Given the description of an element on the screen output the (x, y) to click on. 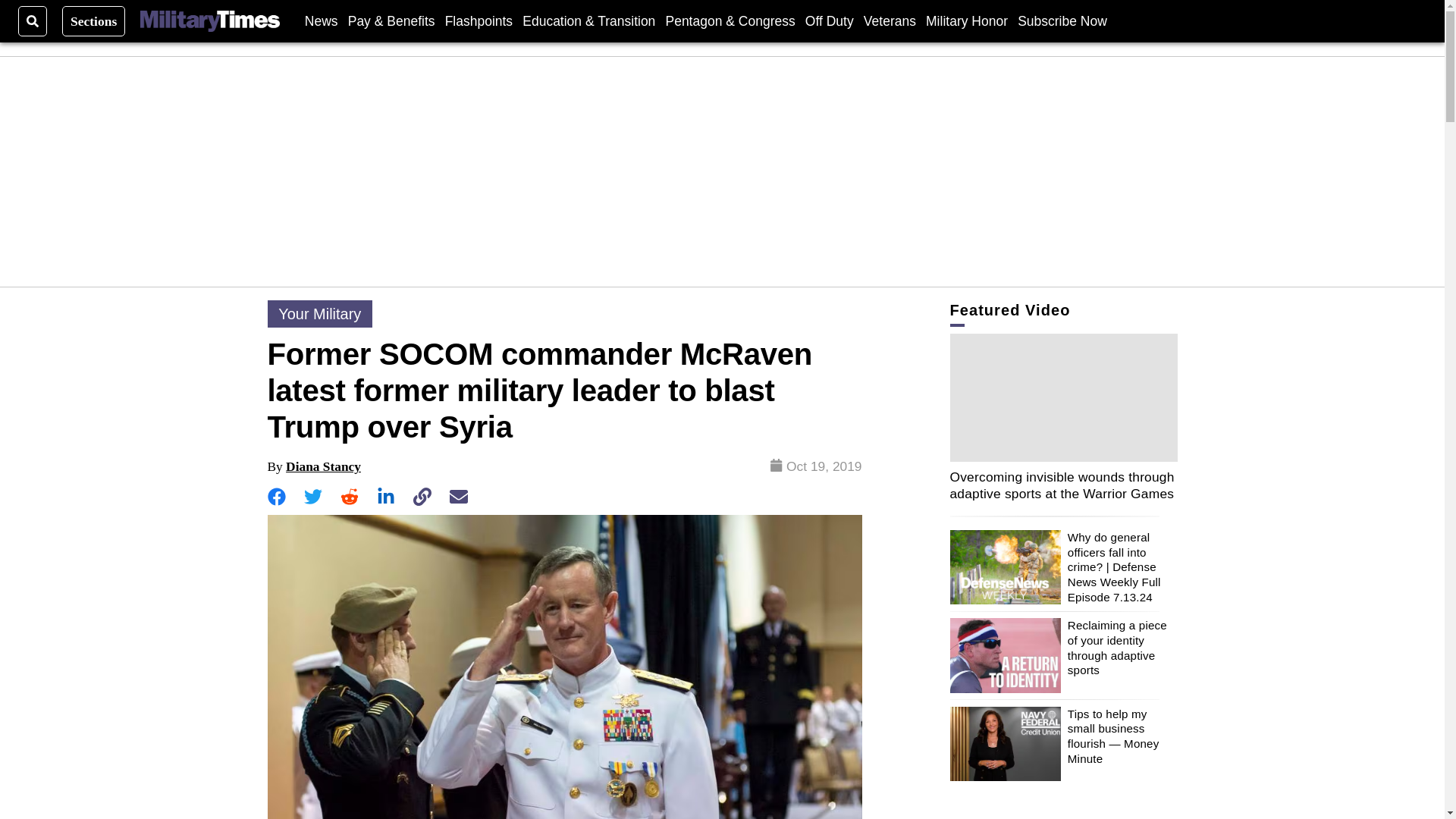
Military Honor (966, 20)
Veterans (889, 20)
Flashpoints (479, 20)
Sections (93, 20)
News (320, 20)
Off Duty (829, 20)
Military Times Logo (209, 20)
